Given the description of an element on the screen output the (x, y) to click on. 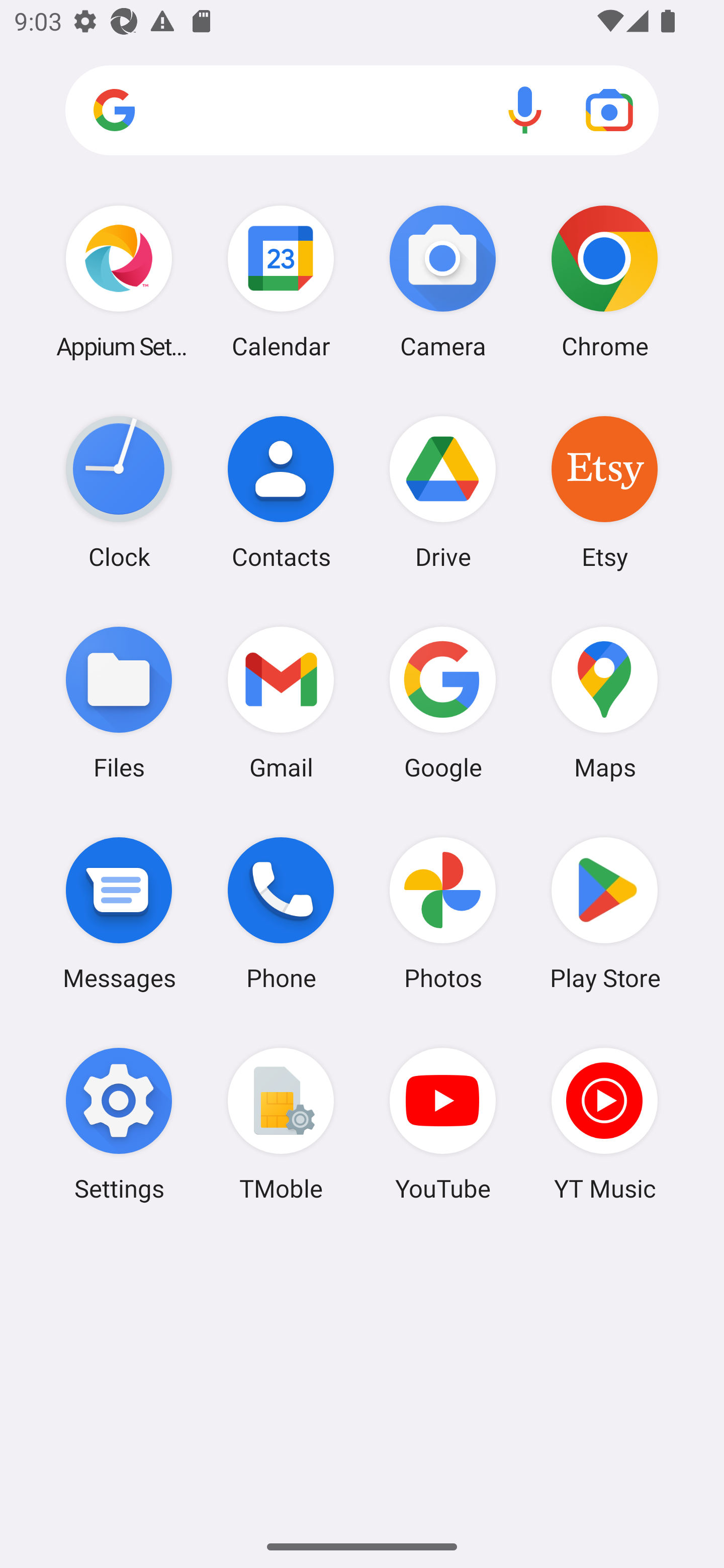
Search apps, web and more (361, 110)
Voice search (524, 109)
Google Lens (608, 109)
Appium Settings (118, 281)
Calendar (280, 281)
Camera (443, 281)
Chrome (604, 281)
Clock (118, 492)
Contacts (280, 492)
Drive (443, 492)
Etsy (604, 492)
Files (118, 702)
Gmail (280, 702)
Google (443, 702)
Maps (604, 702)
Messages (118, 913)
Phone (280, 913)
Photos (443, 913)
Play Store (604, 913)
Settings (118, 1124)
TMoble (280, 1124)
YouTube (443, 1124)
YT Music (604, 1124)
